Given the description of an element on the screen output the (x, y) to click on. 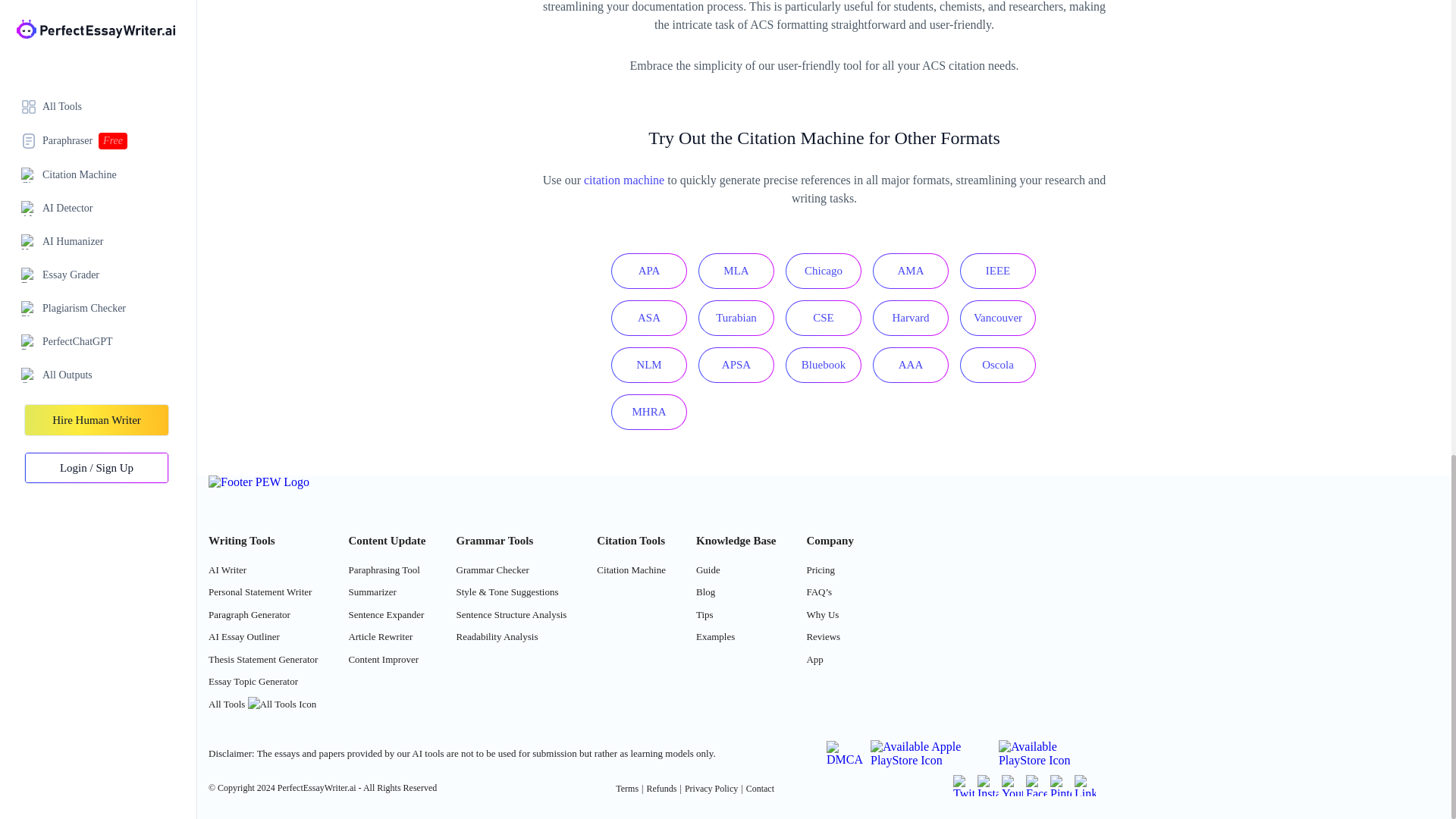
Turabian (736, 317)
citation machine (623, 179)
ASA (649, 317)
MLA (736, 271)
IEEE (997, 271)
AMA (910, 271)
APA (649, 271)
Chicago (823, 271)
